Given the description of an element on the screen output the (x, y) to click on. 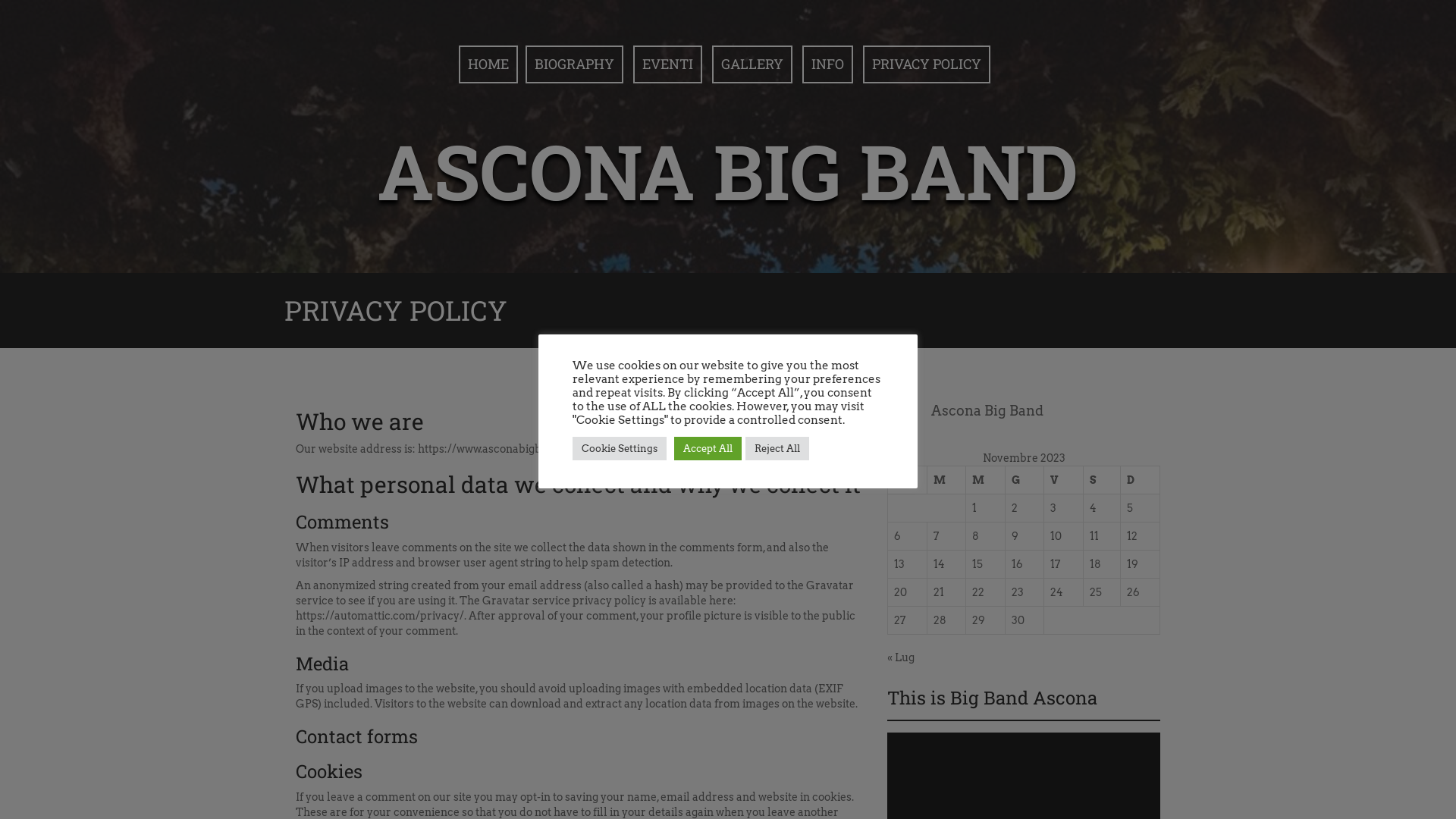
GALLERY Element type: text (751, 64)
Reject All Element type: text (777, 448)
PRIVACY POLICY Element type: text (926, 64)
ASCONA BIG BAND Element type: text (727, 170)
EVENTI Element type: text (666, 64)
Ascona Big Band Element type: text (987, 410)
INFO Element type: text (827, 64)
Cookie Settings Element type: text (619, 448)
BIOGRAPHY Element type: text (573, 64)
HOME Element type: text (487, 64)
Accept All Element type: text (707, 448)
